Given the description of an element on the screen output the (x, y) to click on. 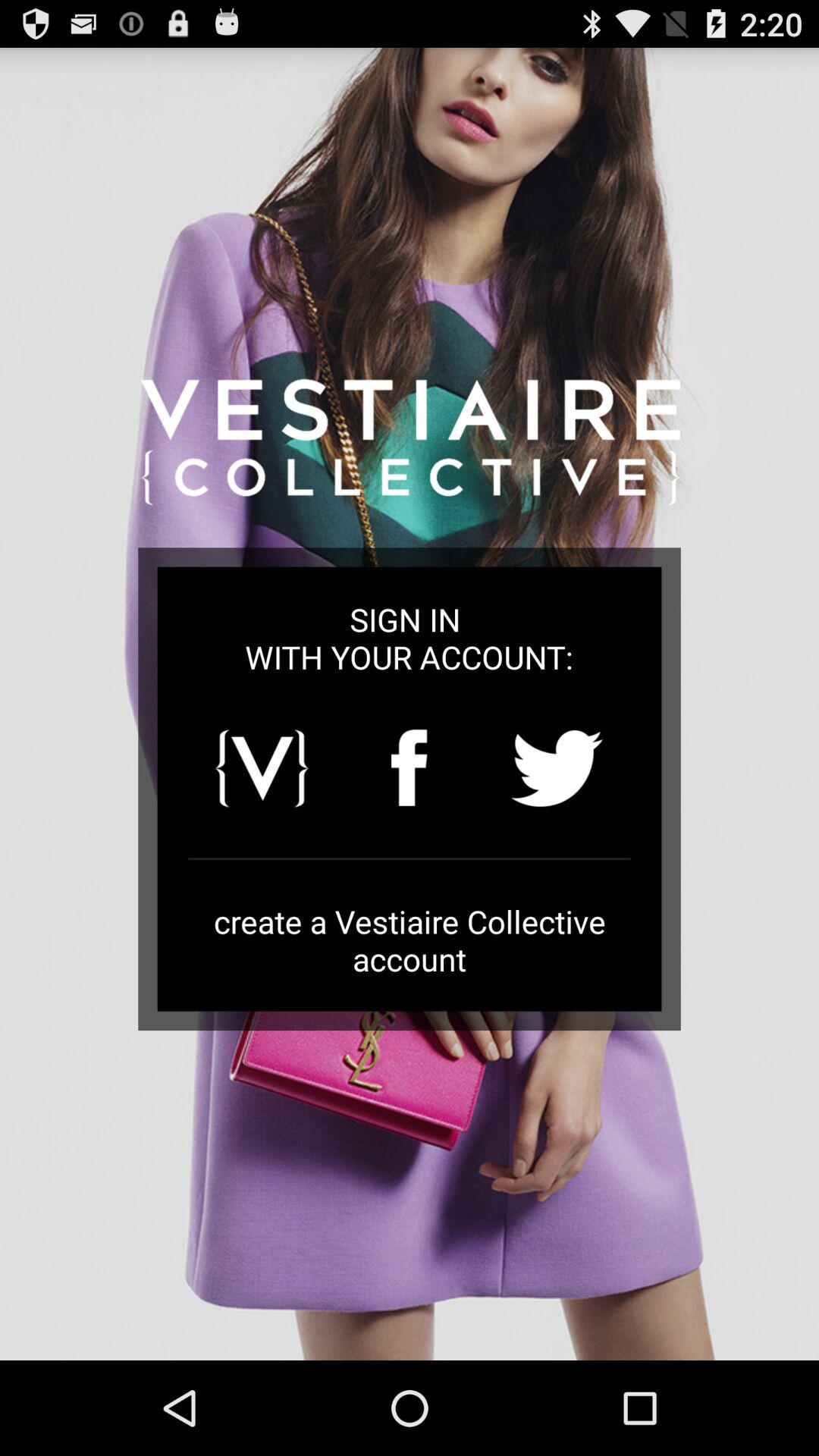
turn off the create a vestiaire (409, 939)
